Given the description of an element on the screen output the (x, y) to click on. 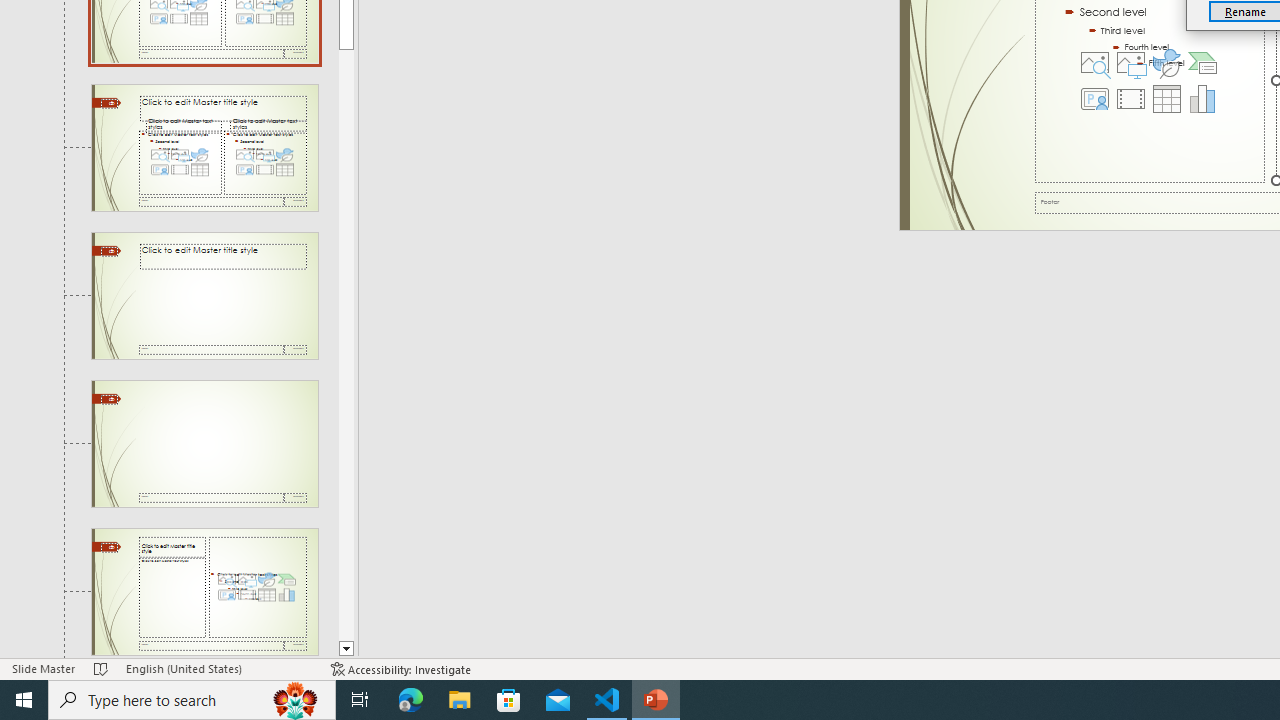
Slide Two Content Layout: used by no slides (204, 147)
Insert a SmartArt Graphic (1202, 62)
